Given the description of an element on the screen output the (x, y) to click on. 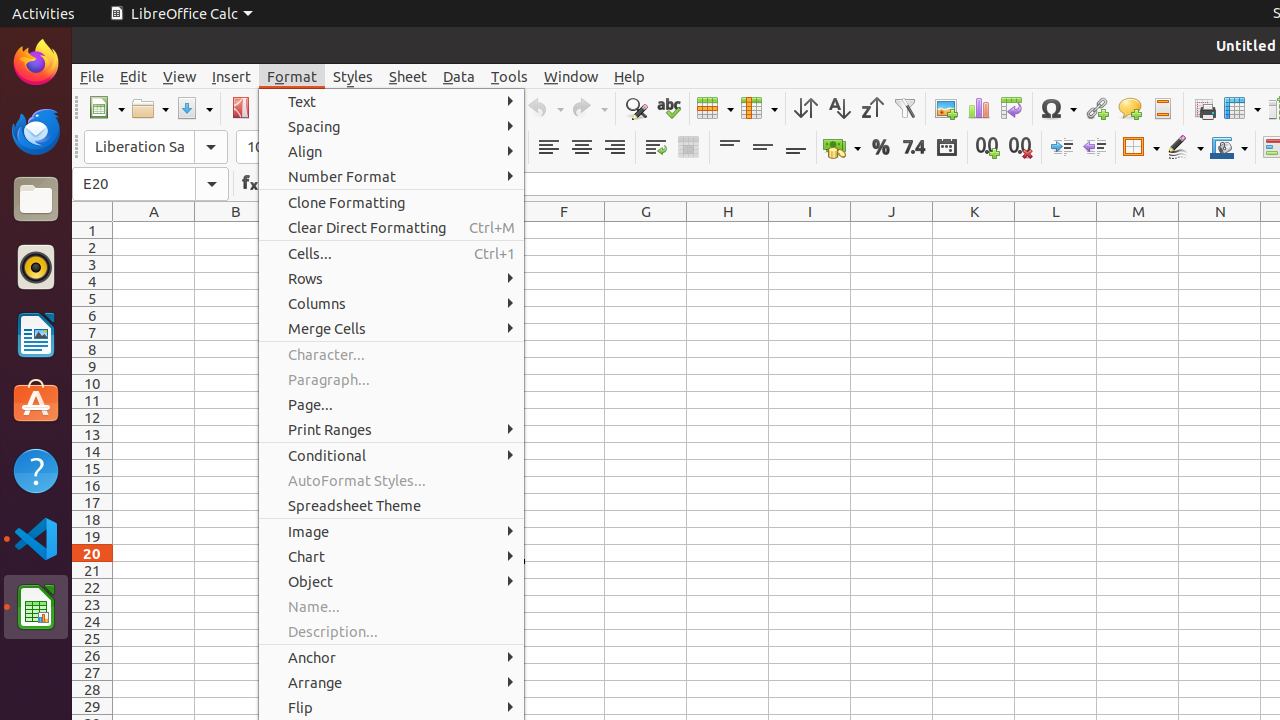
Add Decimal Place Element type: push-button (987, 147)
Sort Element type: push-button (805, 108)
Rhythmbox Element type: push-button (36, 267)
Align Right Element type: push-button (614, 147)
Files Element type: push-button (36, 199)
